Given the description of an element on the screen output the (x, y) to click on. 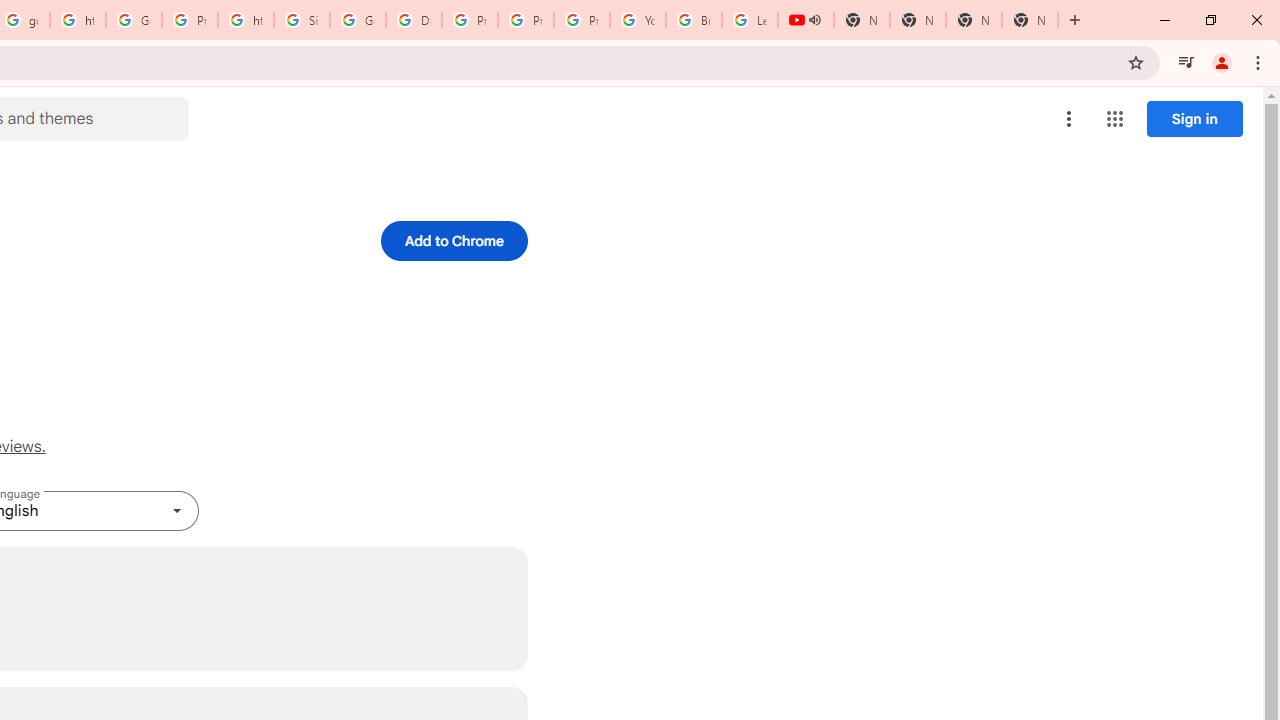
Privacy Help Center - Policies Help (525, 20)
More options menu (1069, 118)
Sign in - Google Accounts (301, 20)
https://scholar.google.com/ (245, 20)
